Given the description of an element on the screen output the (x, y) to click on. 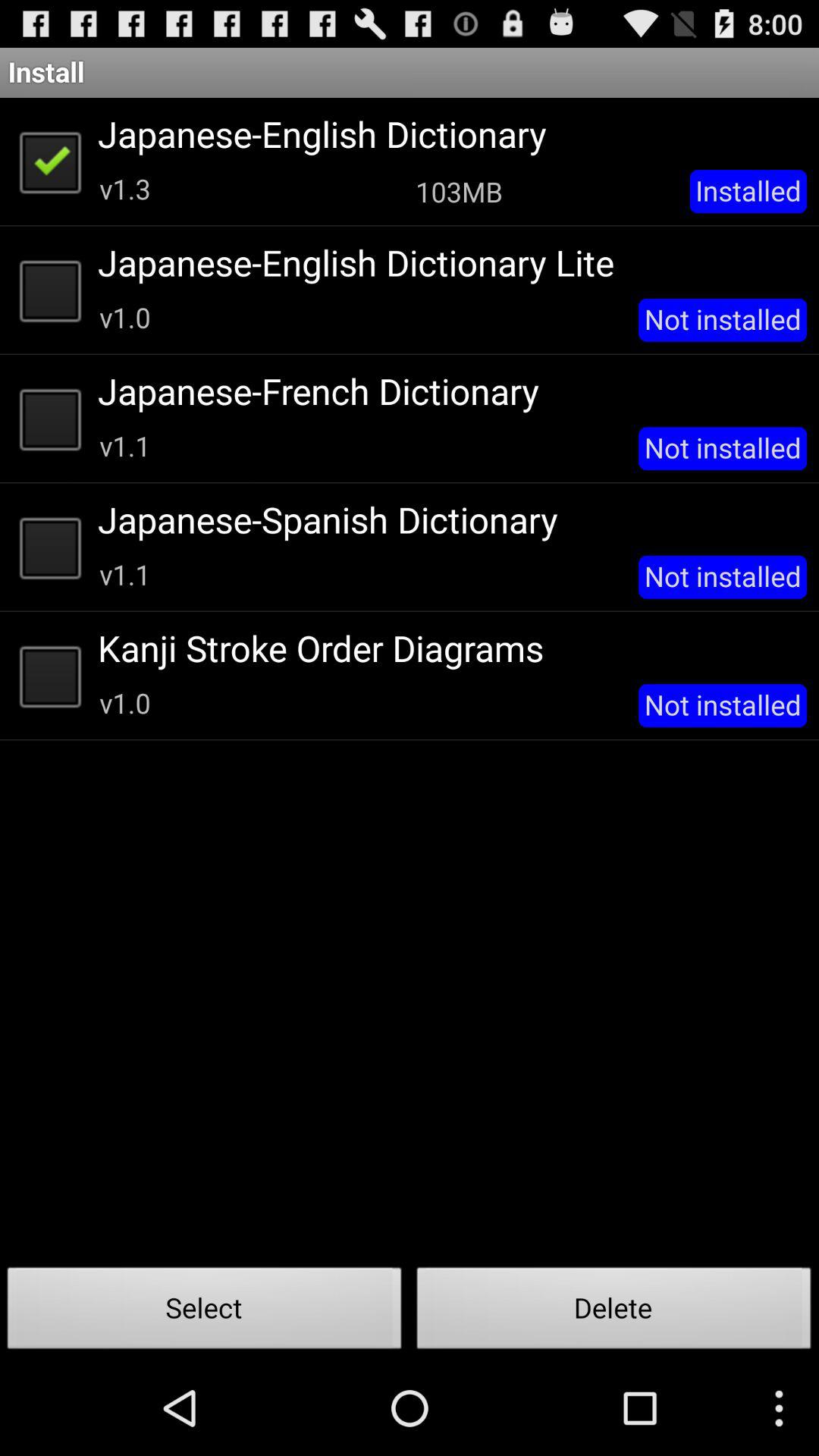
choose the icon next to the v1.3 app (458, 191)
